Given the description of an element on the screen output the (x, y) to click on. 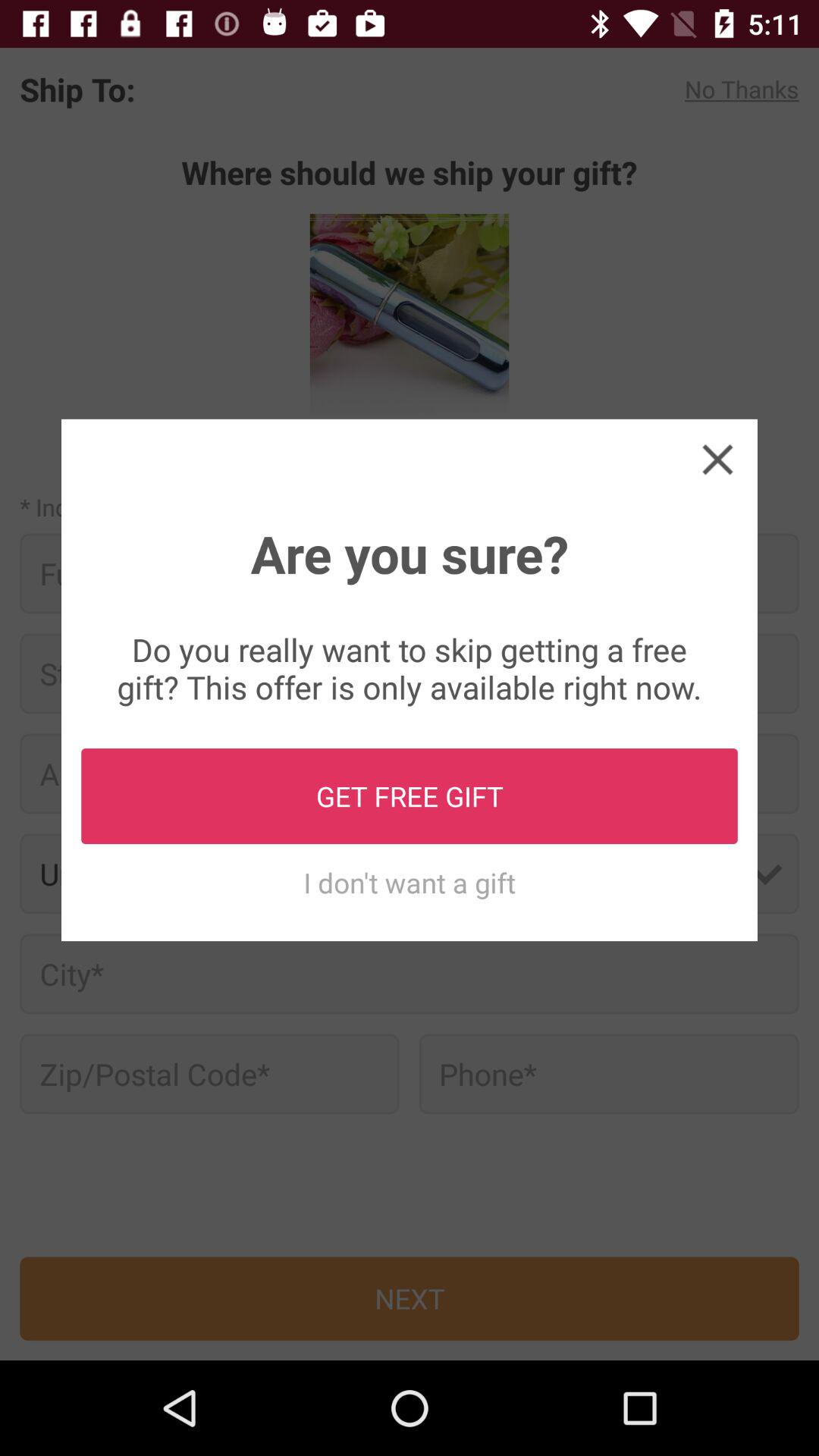
close the popup (717, 458)
